Given the description of an element on the screen output the (x, y) to click on. 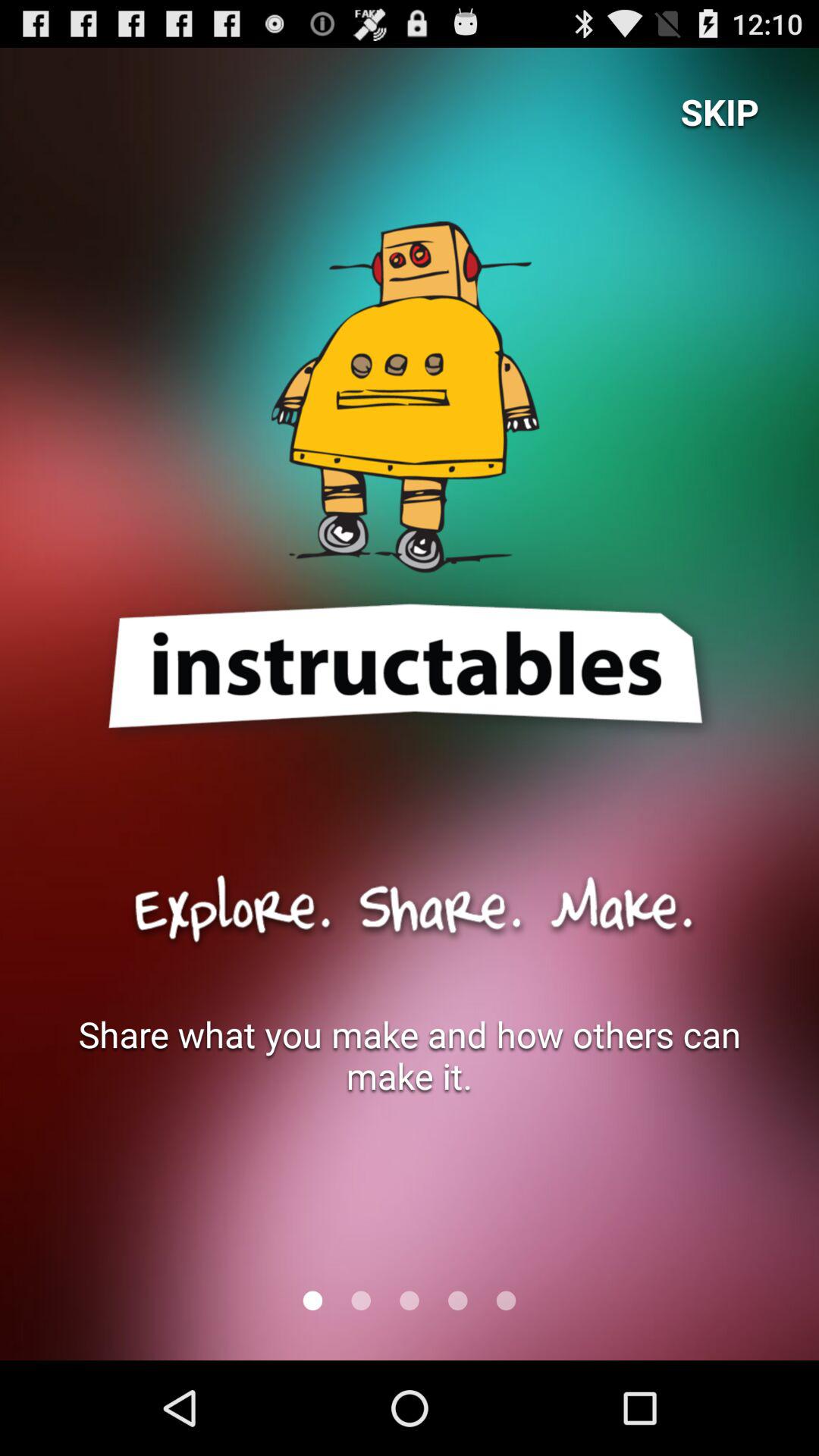
turn off the skip icon (719, 111)
